Given the description of an element on the screen output the (x, y) to click on. 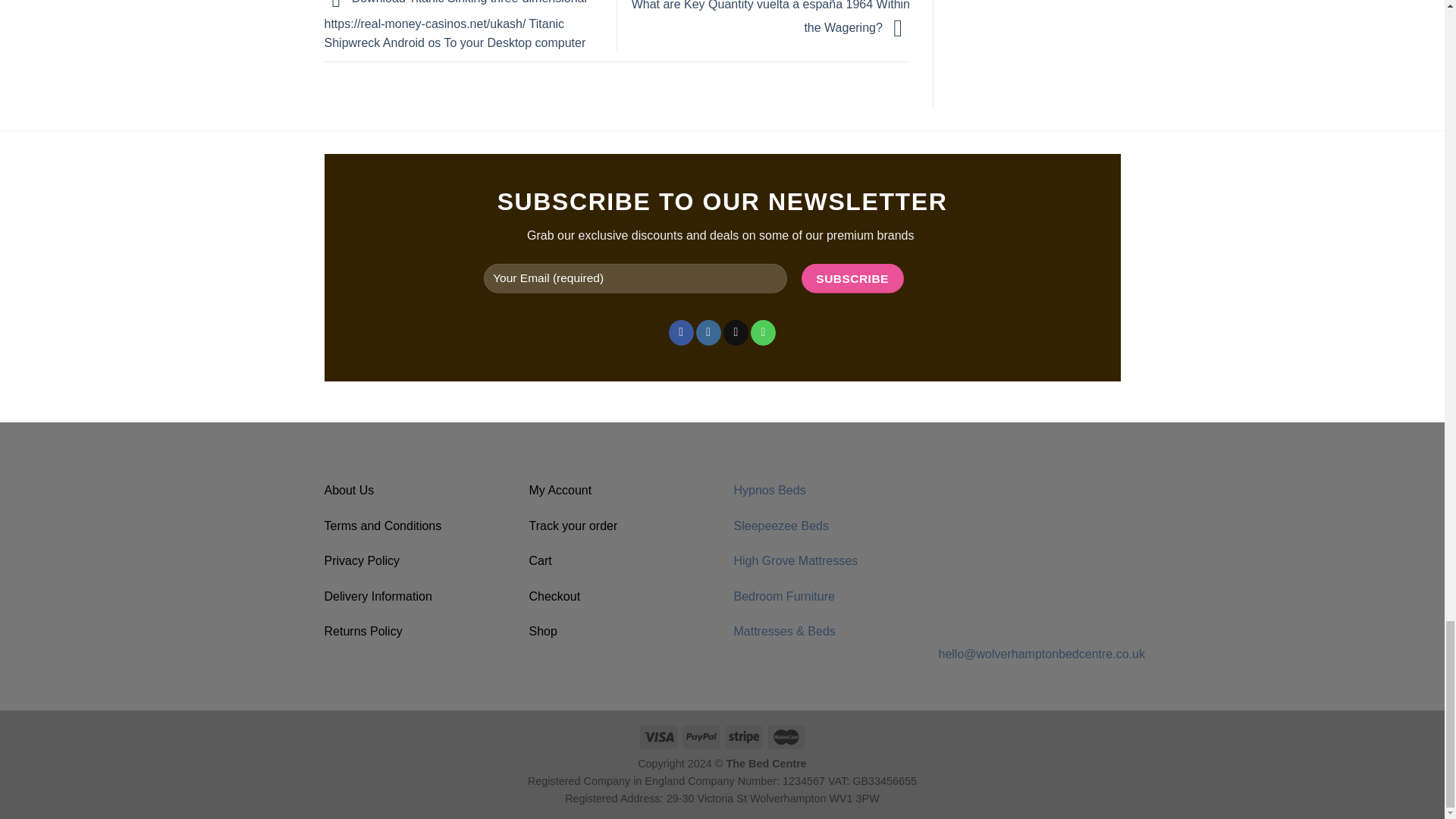
Subscribe (853, 278)
